Given the description of an element on the screen output the (x, y) to click on. 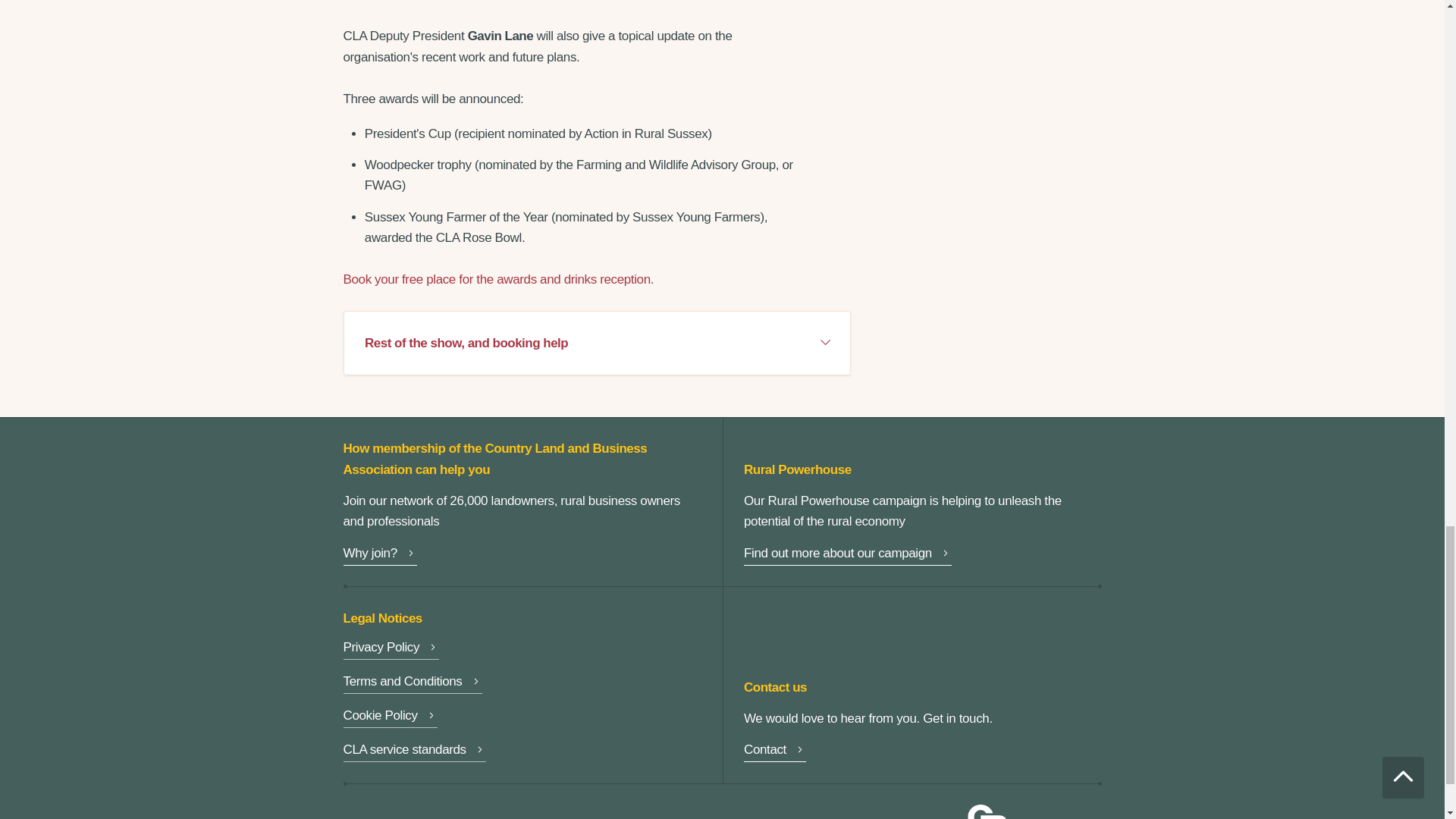
CLA service standards (413, 752)
Why join? (379, 555)
Privacy Policy (390, 649)
Terms and Conditions (411, 683)
Find out more about our campaign (848, 555)
Cookie Policy (389, 717)
Contact (775, 752)
Book your free place for the awards and drinks reception. (497, 278)
